Given the description of an element on the screen output the (x, y) to click on. 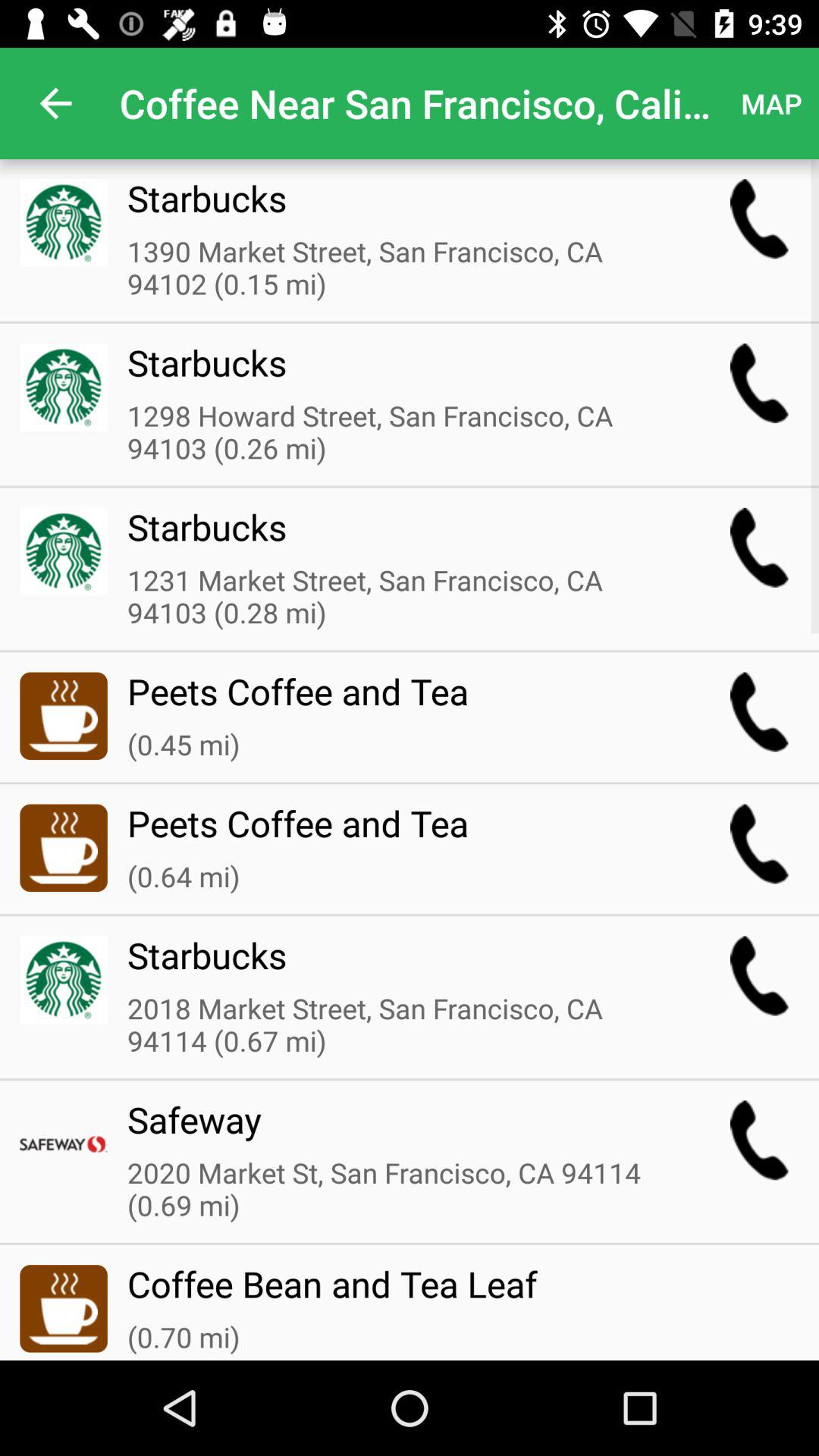
turn on the map item (771, 103)
